Given the description of an element on the screen output the (x, y) to click on. 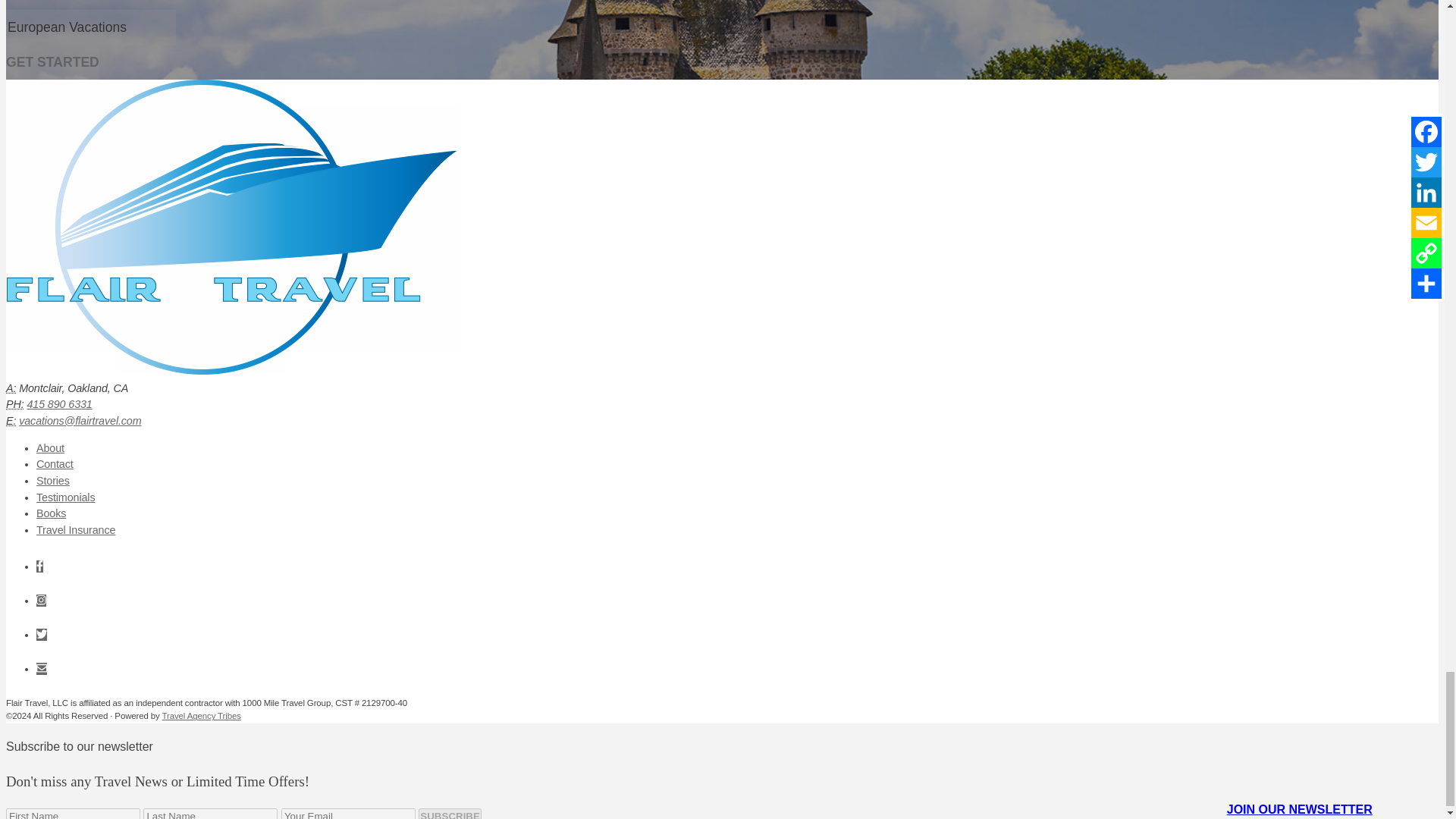
Phone (14, 404)
GET STARTED (52, 62)
415 890 6331 (58, 404)
European Vacations (90, 27)
